Given the description of an element on the screen output the (x, y) to click on. 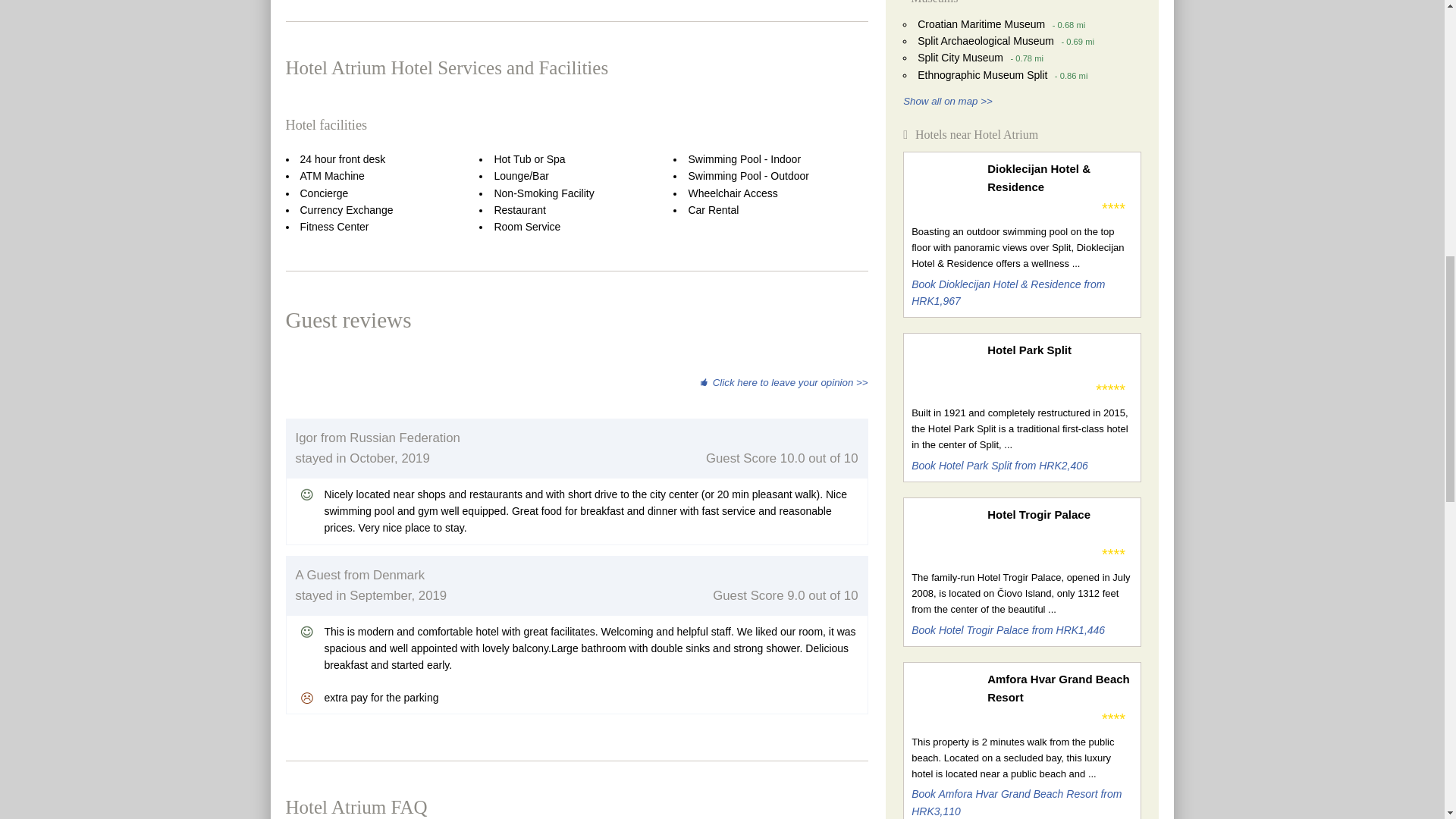
Hotel Trogir Palace (1059, 515)
Book Hotel Trogir Palace from HRK1,446 (1008, 630)
Amfora Hvar Grand Beach Resort (1059, 688)
Hotel Park Split (1059, 350)
Book Amfora Hvar Grand Beach Resort from HRK3,110 (1016, 801)
Book Hotel Park Split from HRK2,406 (999, 465)
